Given the description of an element on the screen output the (x, y) to click on. 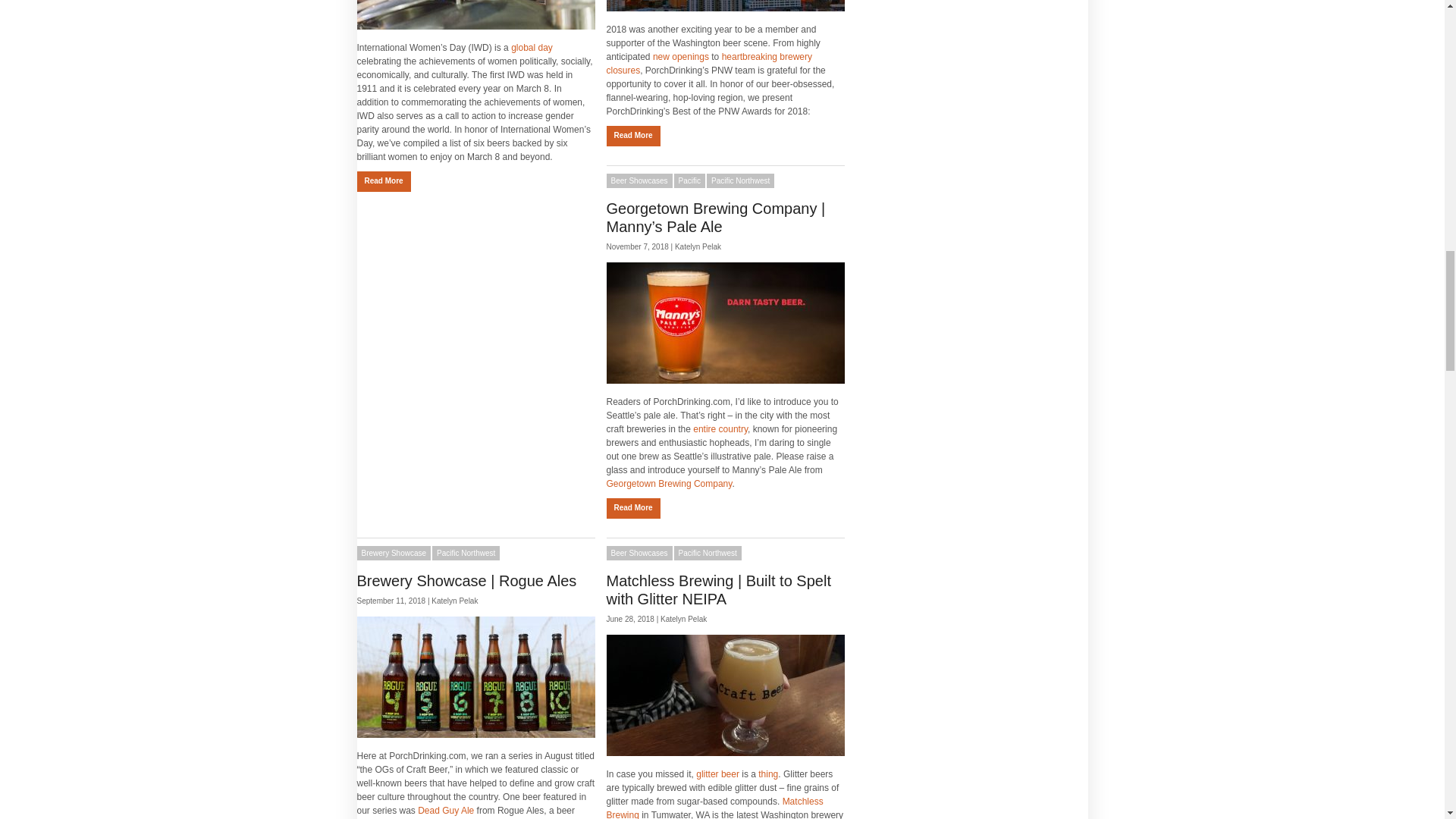
Posts by Katelyn Pelak (697, 246)
